Given the description of an element on the screen output the (x, y) to click on. 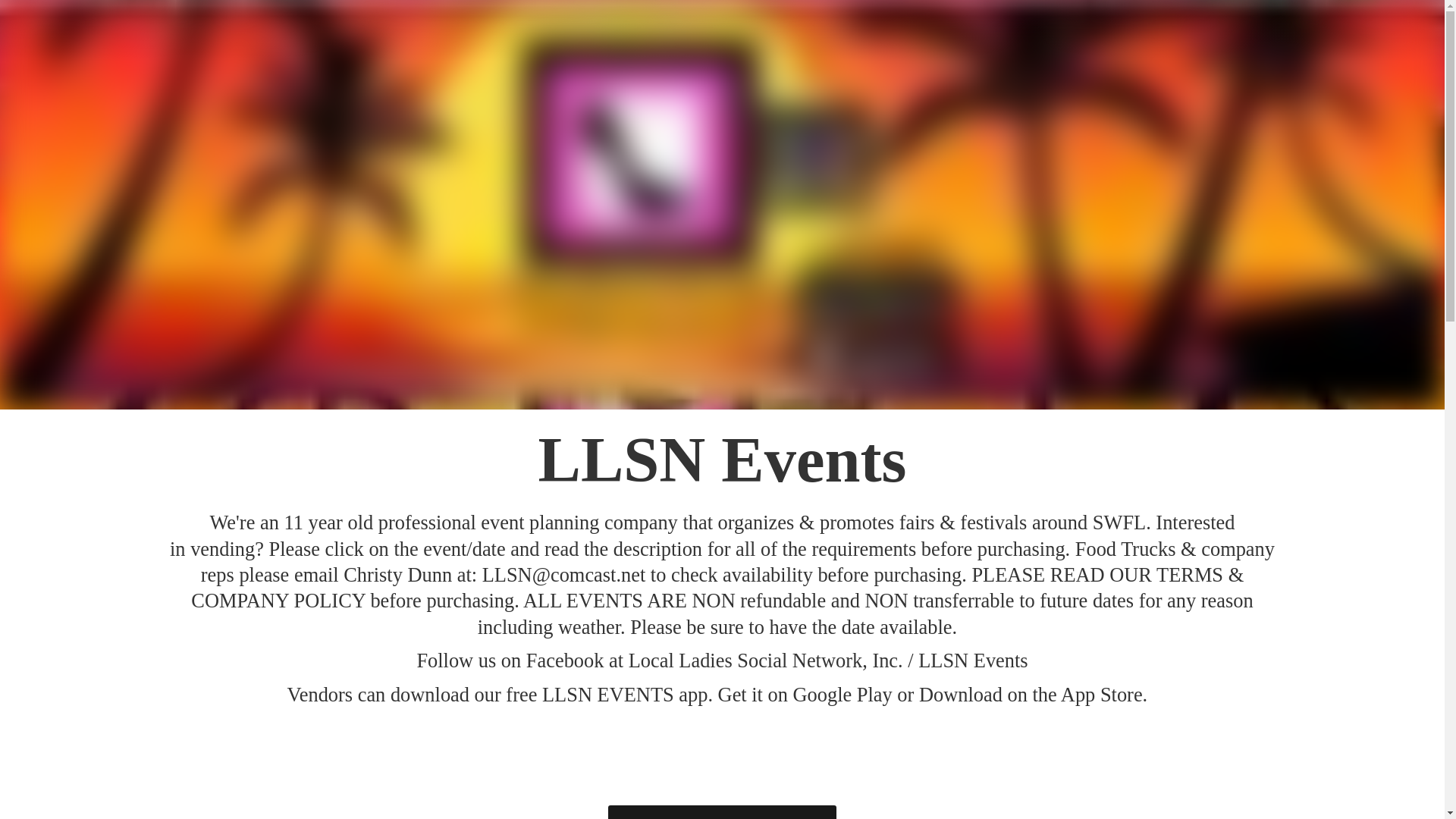
Purchase a vending space here (721, 812)
